Given the description of an element on the screen output the (x, y) to click on. 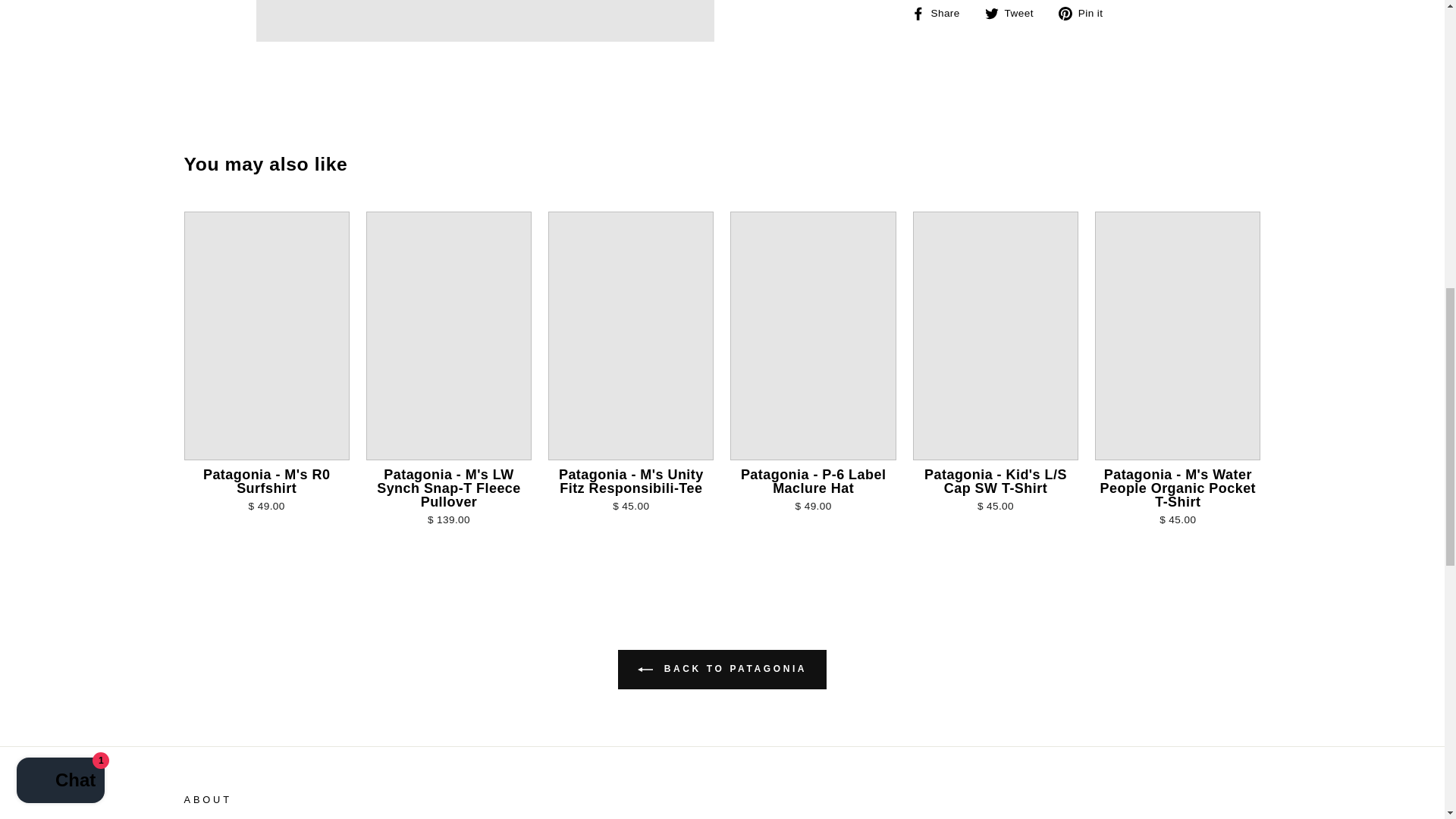
Share on Facebook (941, 12)
Tweet on Twitter (1015, 12)
Pin on Pinterest (1085, 12)
